Given the description of an element on the screen output the (x, y) to click on. 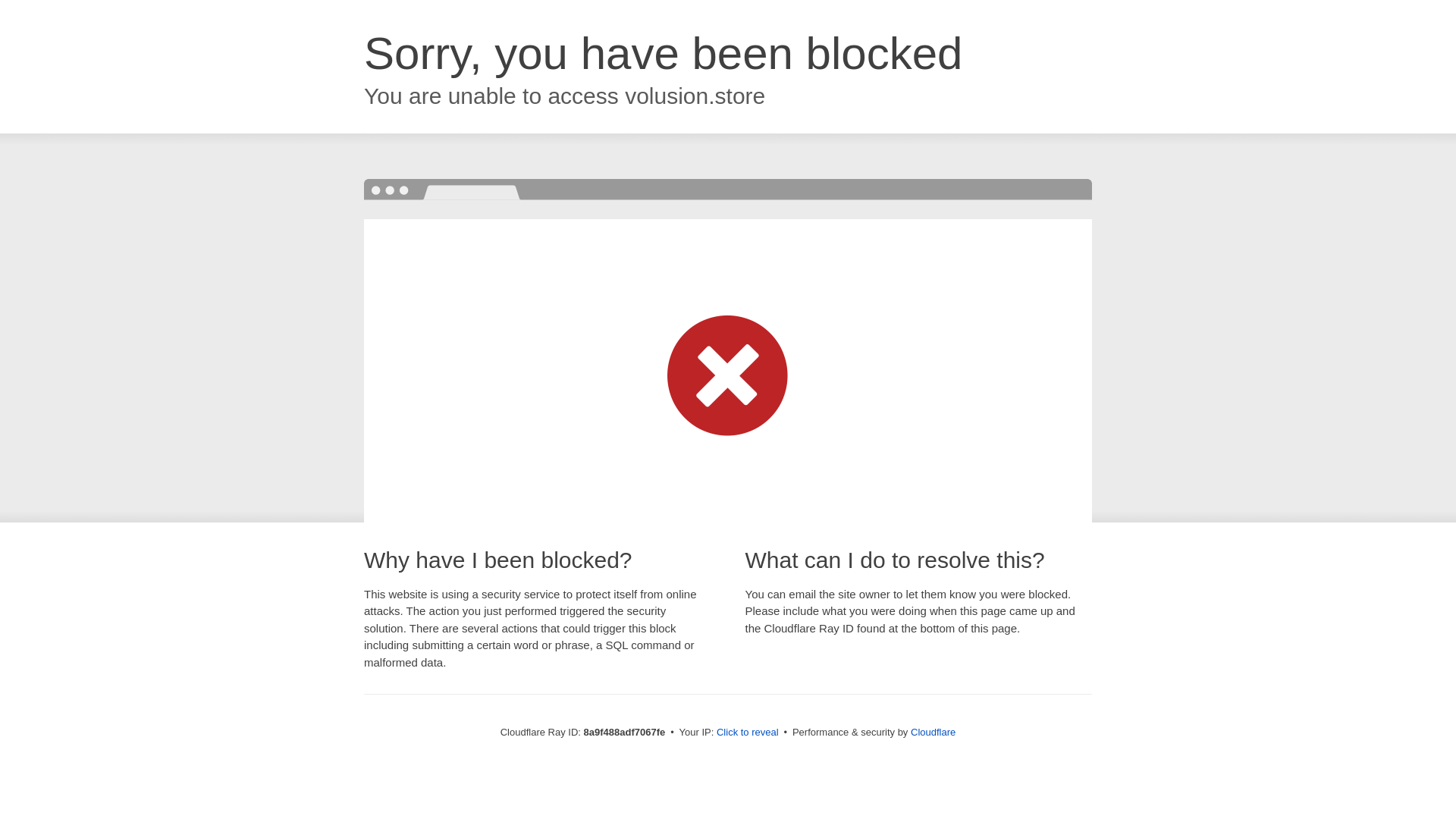
Cloudflare (933, 731)
Click to reveal (747, 732)
